Given the description of an element on the screen output the (x, y) to click on. 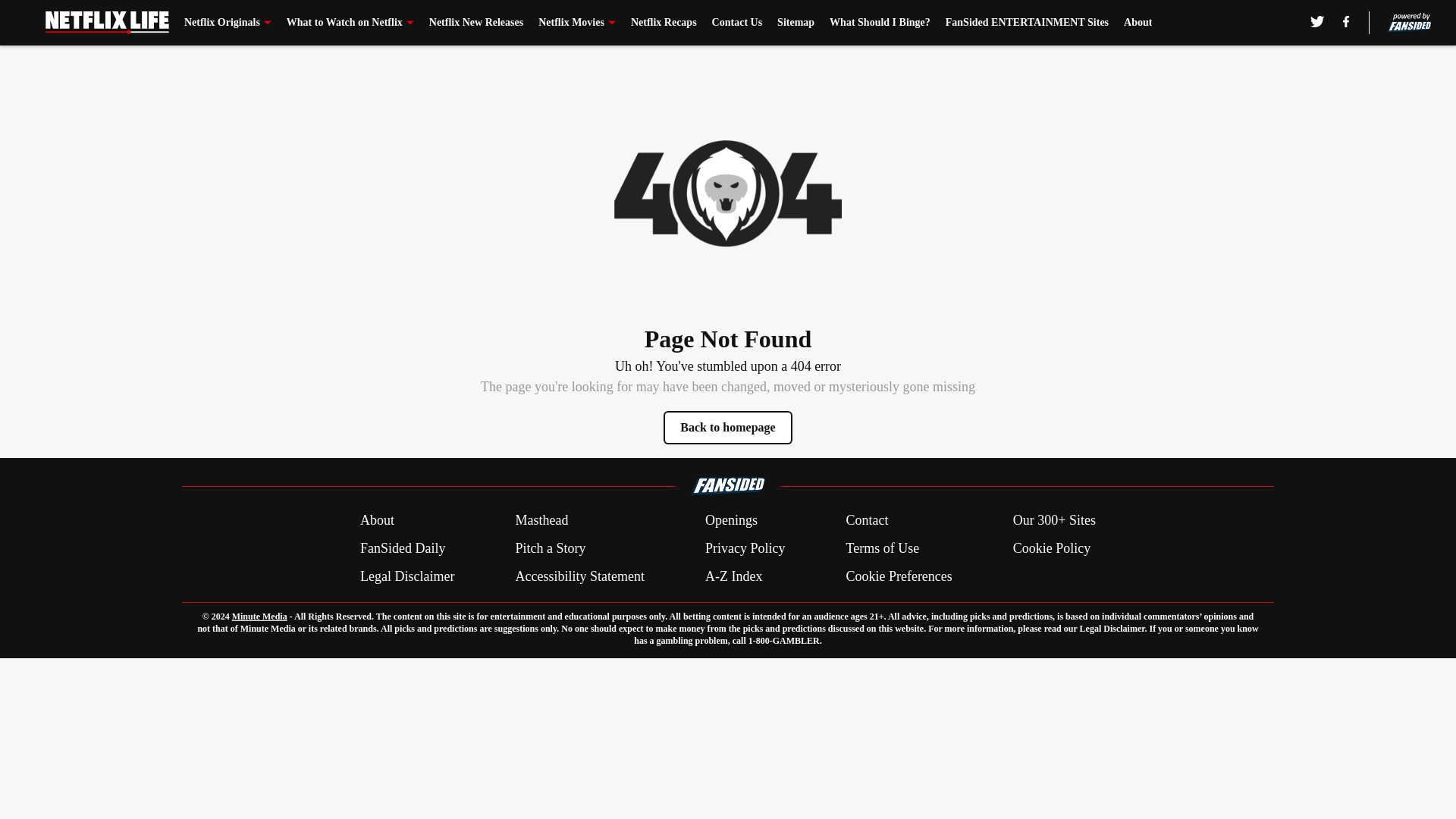
Netflix Movies (576, 22)
Error image (727, 193)
What to Watch on Netflix (349, 22)
Netflix New Releases (475, 22)
Netflix Originals (227, 22)
